Given the description of an element on the screen output the (x, y) to click on. 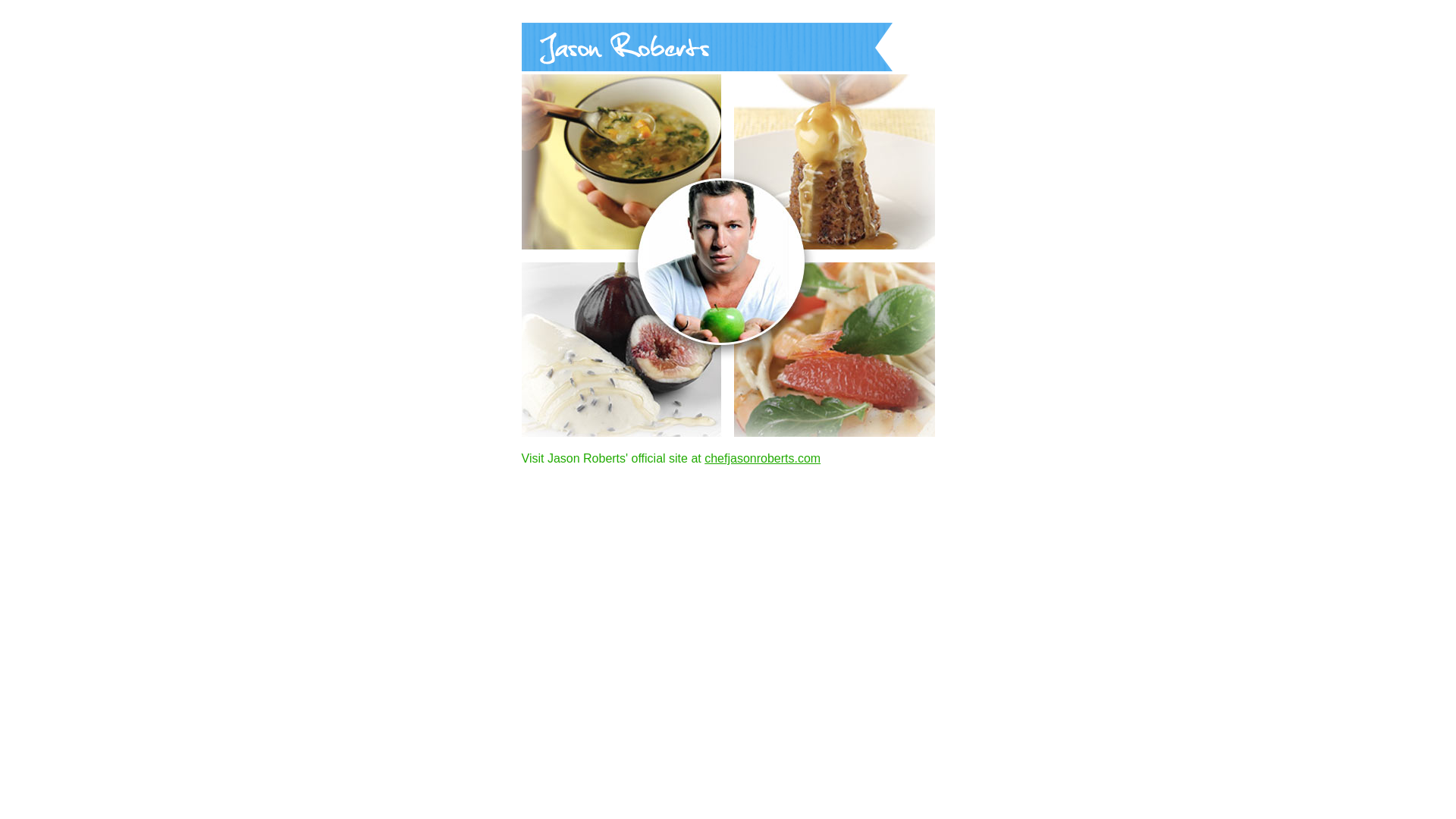
chefjasonroberts.com Element type: text (762, 457)
